Given the description of an element on the screen output the (x, y) to click on. 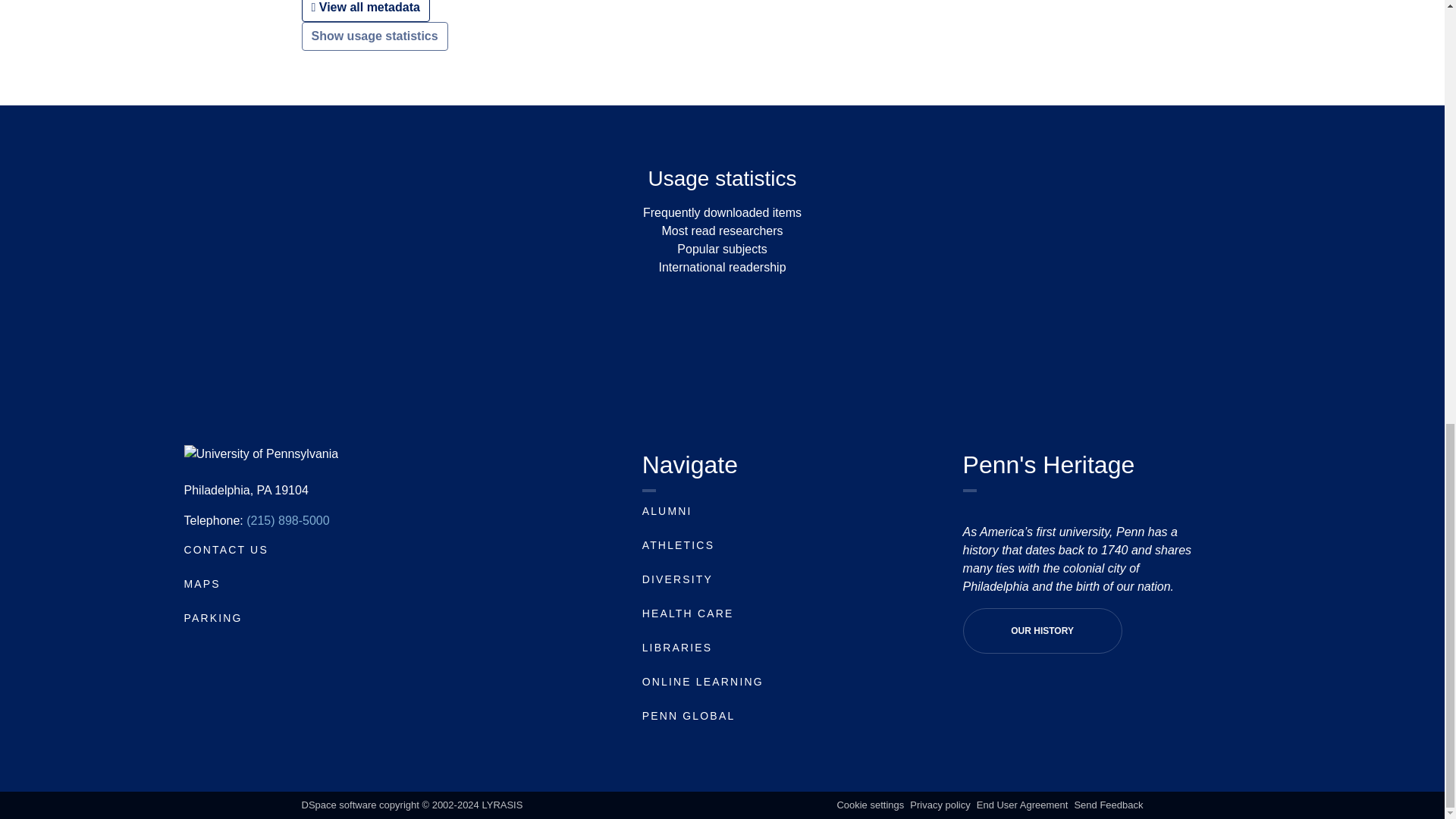
HEALTH CARE (687, 613)
International readership (722, 267)
ONLINE LEARNING (702, 681)
Popular subjects (722, 248)
CONTACT US (225, 549)
End User Agreement (1022, 804)
Most read researchers (722, 230)
View all metadata (365, 11)
Send Feedback (1108, 804)
MAPS (201, 583)
PENN GLOBAL (688, 715)
Most read researchers (722, 230)
Privacy policy (939, 804)
ATHLETICS (678, 544)
LIBRARIES (677, 647)
